Given the description of an element on the screen output the (x, y) to click on. 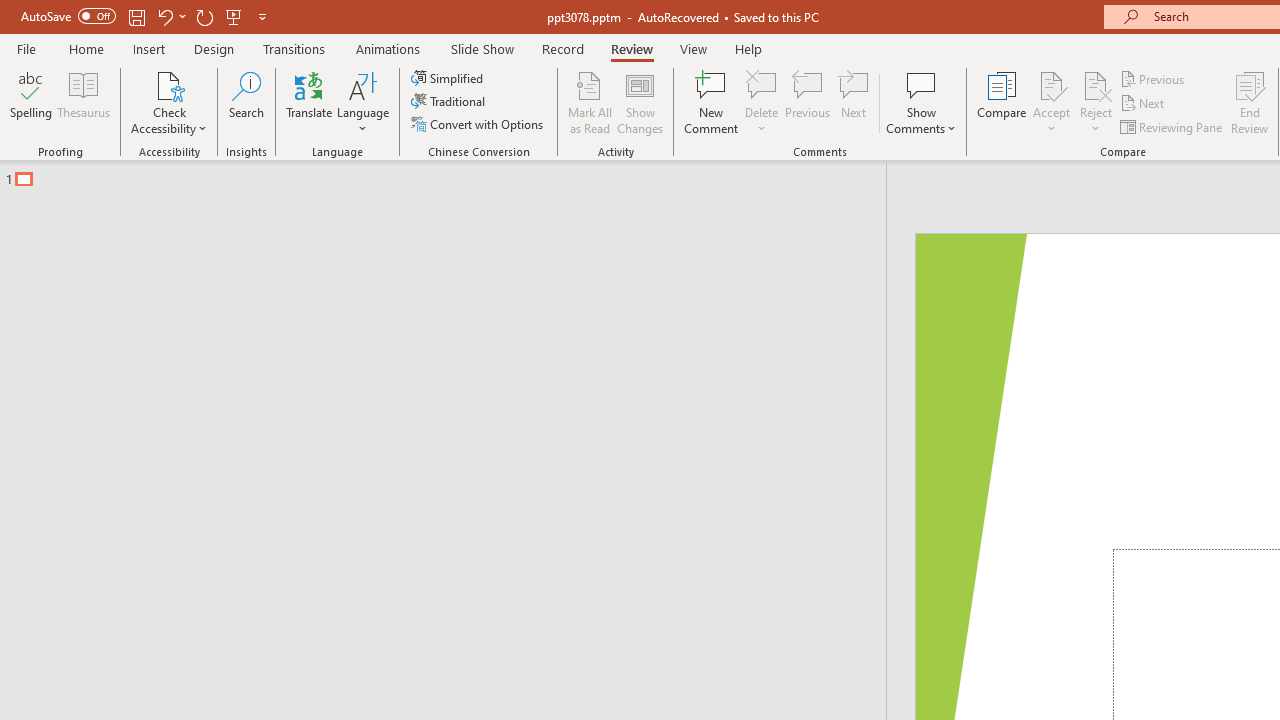
Language (363, 102)
Mark All as Read (589, 102)
Simplified (449, 78)
Show Changes (639, 102)
